Given the description of an element on the screen output the (x, y) to click on. 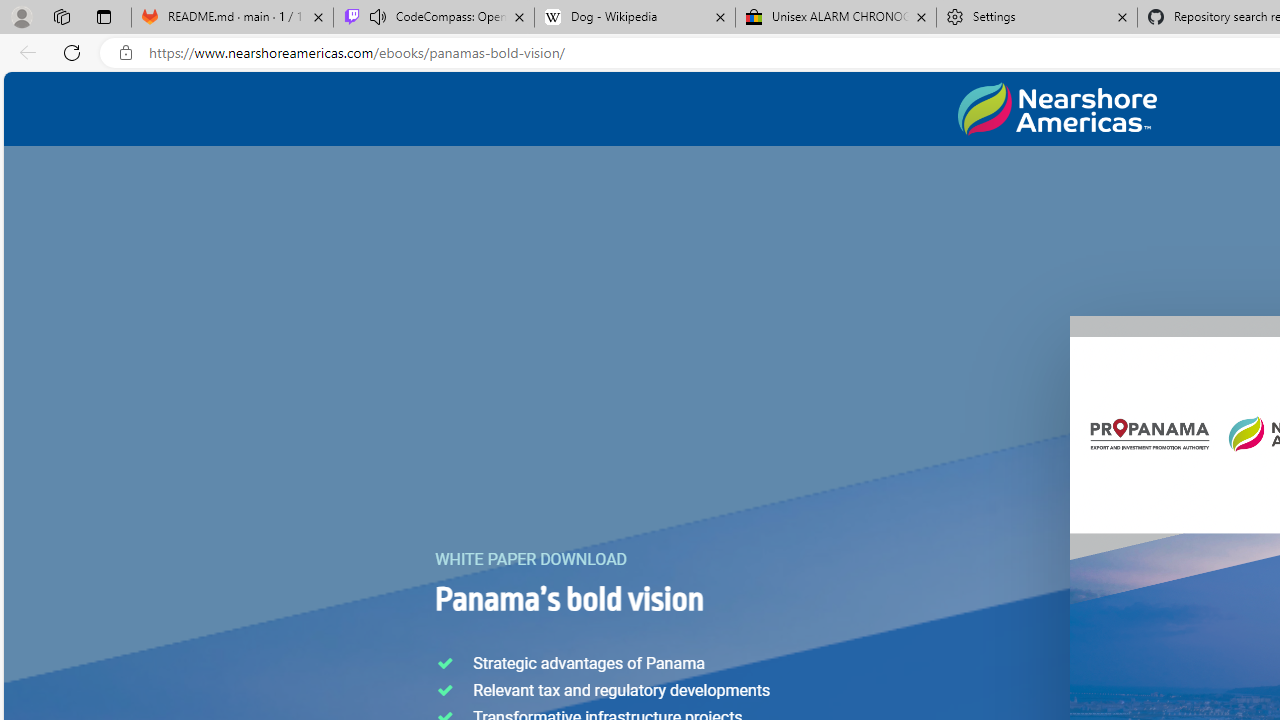
Workspaces (61, 16)
